Given the description of an element on the screen output the (x, y) to click on. 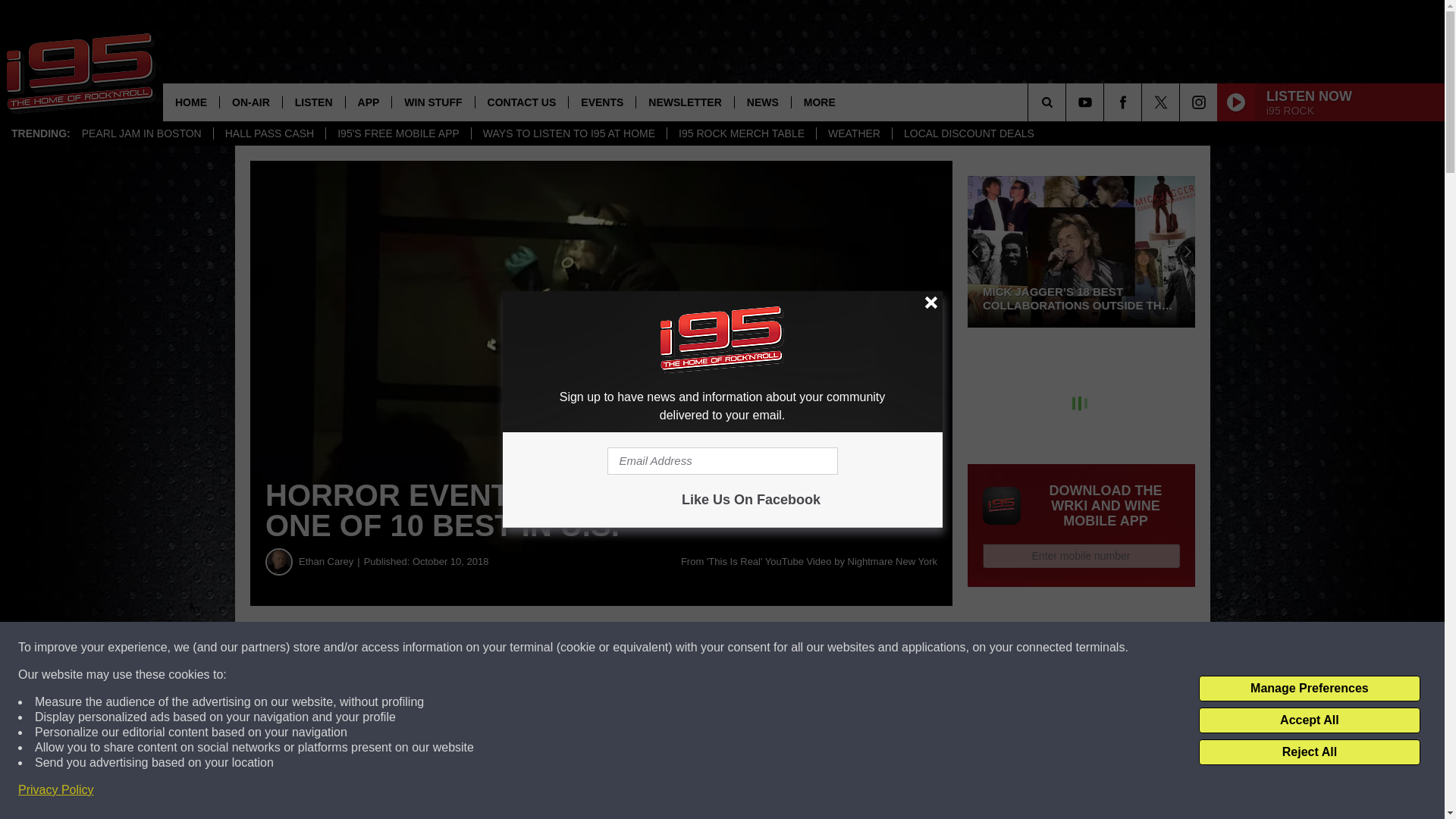
WIN STUFF (432, 102)
I95 ROCK MERCH TABLE (740, 133)
APP (368, 102)
ON-AIR (250, 102)
SEARCH (1068, 102)
Share on Twitter (741, 647)
Manage Preferences (1309, 688)
WAYS TO LISTEN TO I95 AT HOME (568, 133)
Email Address (722, 461)
SEARCH (1068, 102)
HOME (191, 102)
Privacy Policy (55, 789)
Reject All (1309, 751)
Share on Facebook (460, 647)
LOCAL DISCOUNT DEALS (968, 133)
